Given the description of an element on the screen output the (x, y) to click on. 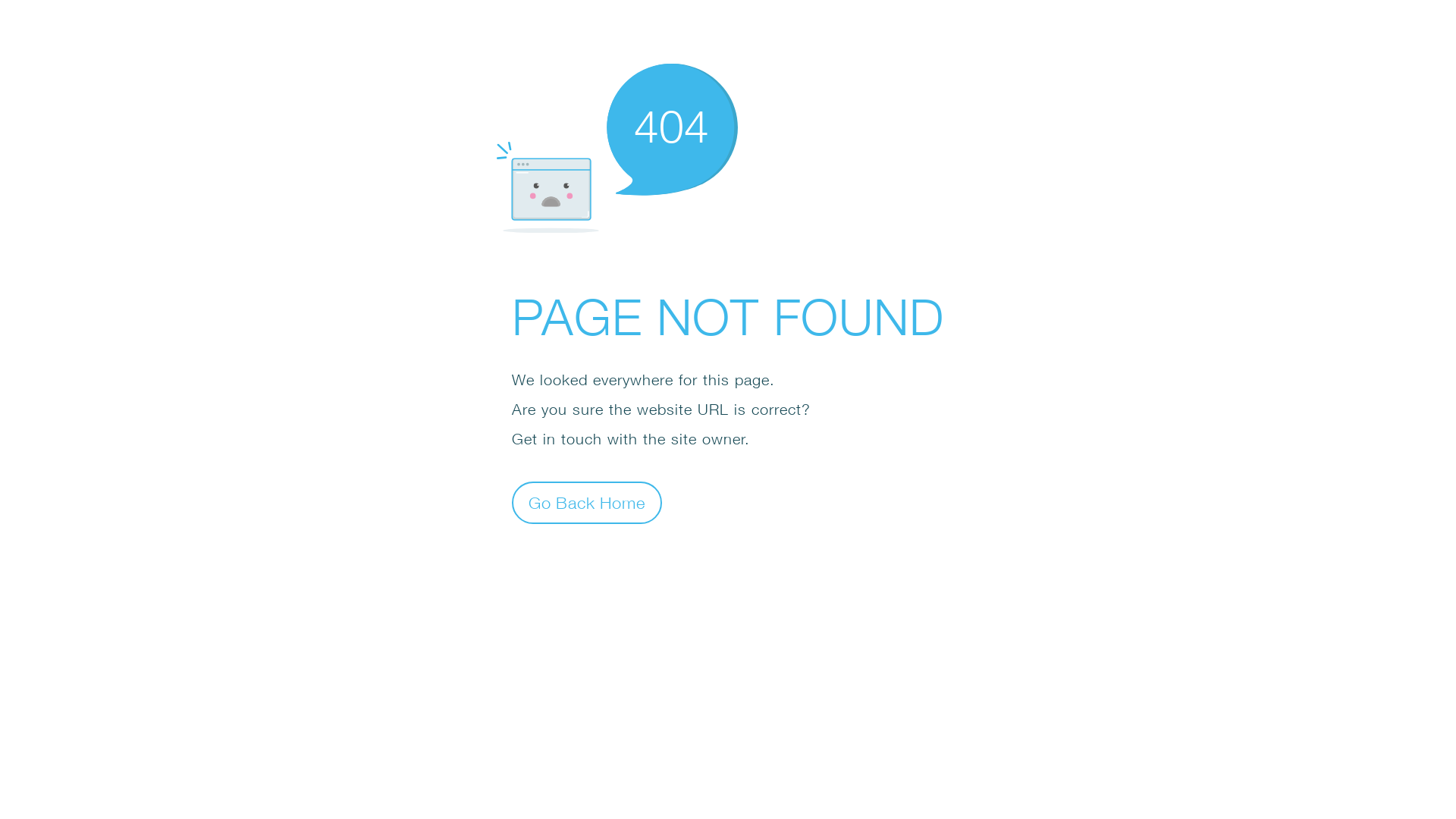
Go Back Home Element type: text (586, 502)
